Given the description of an element on the screen output the (x, y) to click on. 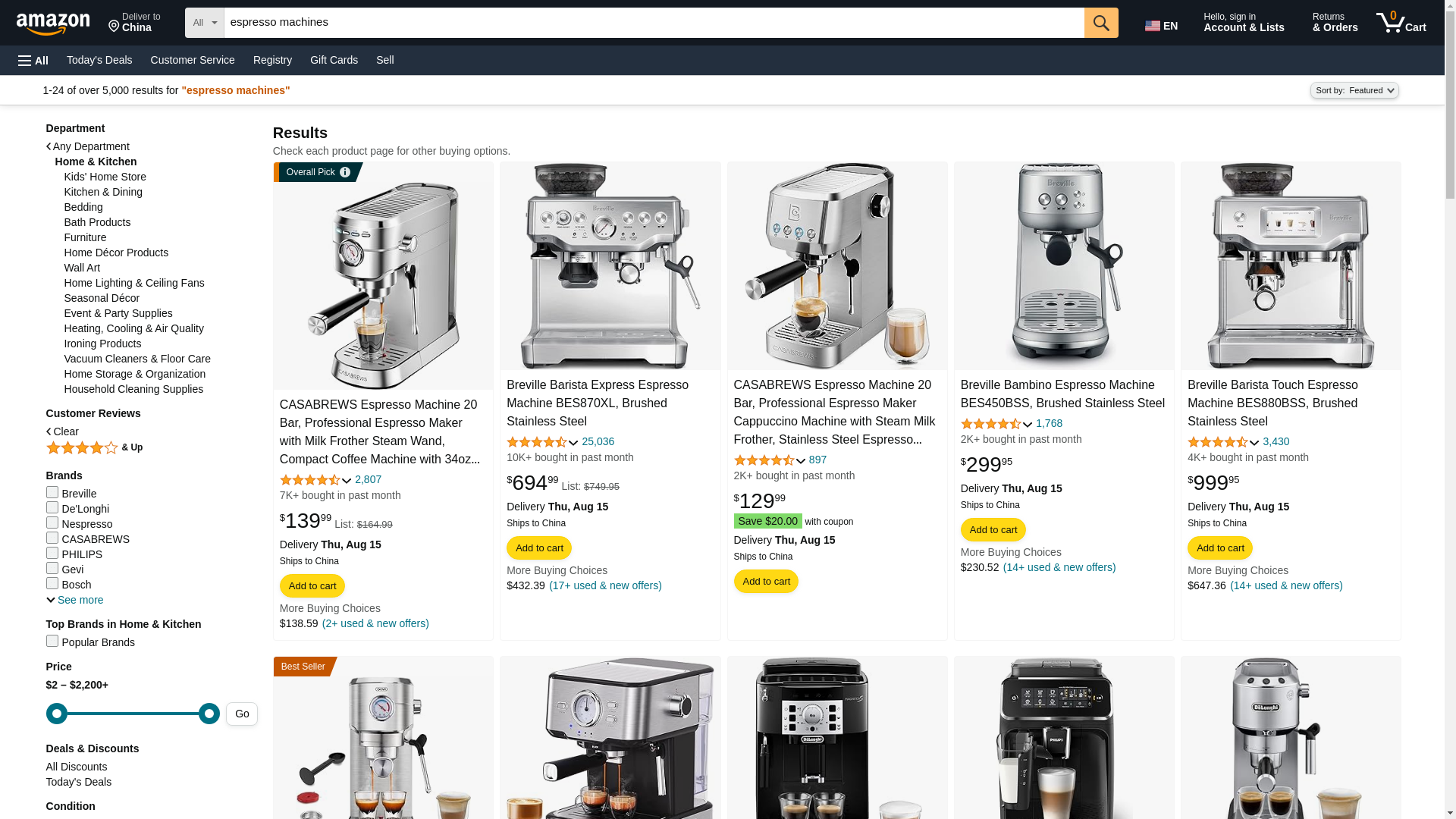
25,036 (598, 441)
Go (1101, 22)
Go (1101, 22)
149 (133, 712)
Sell (384, 59)
EN (1401, 22)
Registry (134, 22)
Add to cart (1163, 22)
